Given the description of an element on the screen output the (x, y) to click on. 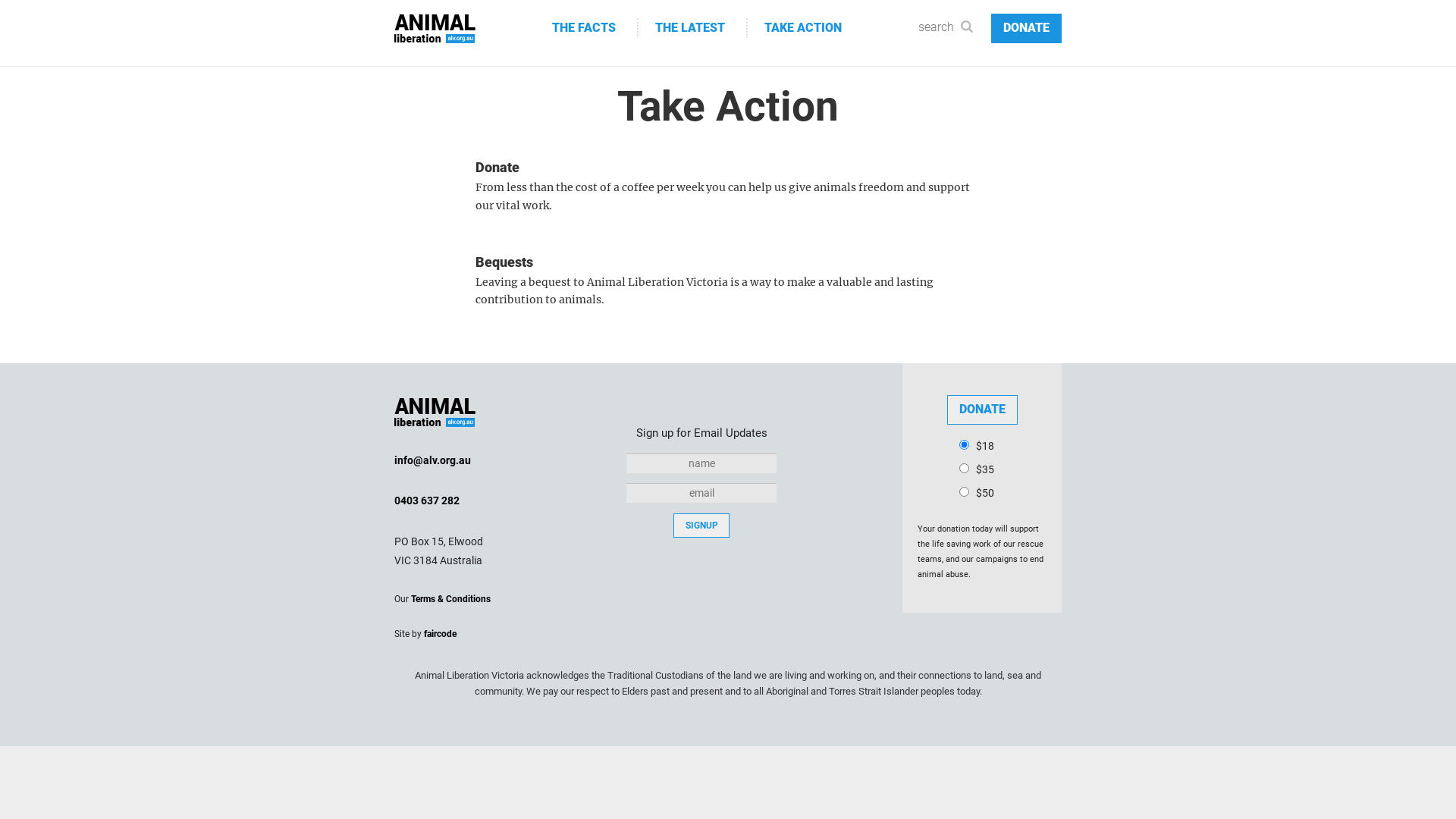
faircode Element type: text (439, 632)
THE LATEST Element type: text (692, 23)
Animal Liberation Victoria Element type: text (436, 412)
SIGNUP Element type: text (701, 525)
THE FACTS Element type: text (586, 23)
Animal Liberation Victoria | Element type: text (436, 29)
info@alv.org.au Element type: text (432, 460)
Terms & Conditions Element type: text (450, 598)
Donate Element type: text (981, 409)
TAKE ACTION Element type: text (805, 23)
0403 637 282 Element type: text (426, 500)
DONATE Element type: text (1026, 28)
